Given the description of an element on the screen output the (x, y) to click on. 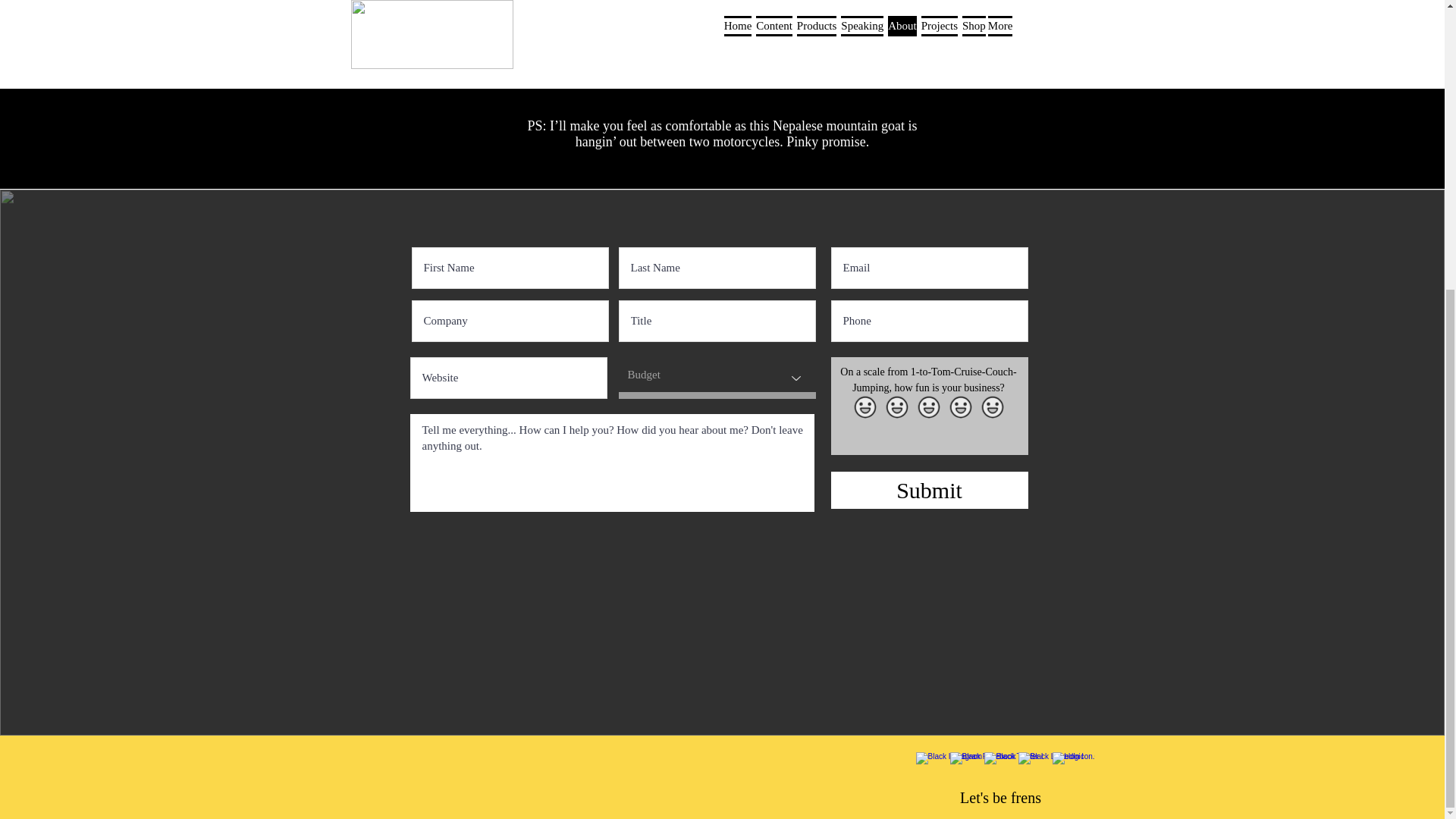
Submit (929, 489)
